Given the description of an element on the screen output the (x, y) to click on. 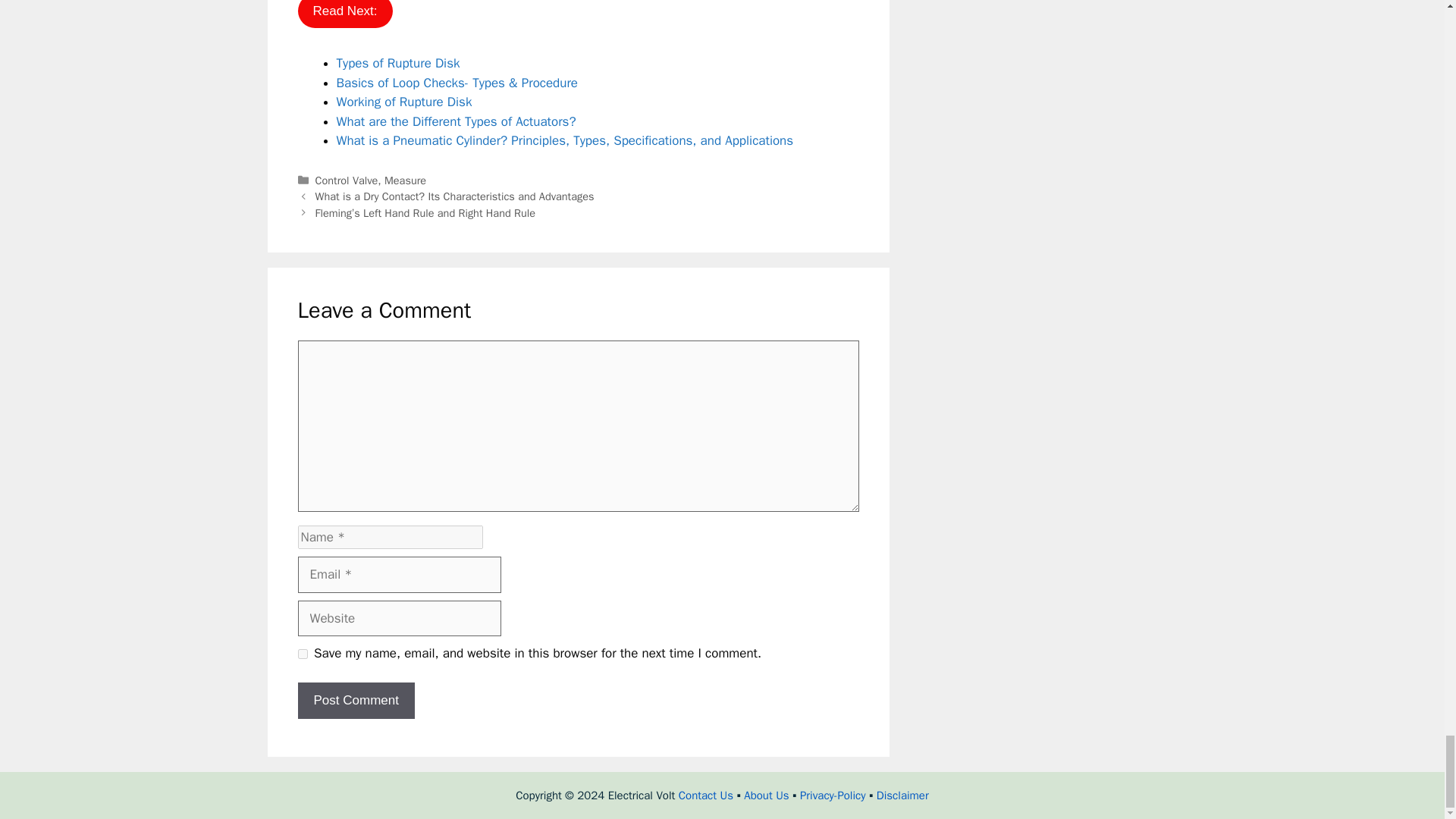
yes (302, 654)
Post Comment (355, 700)
